Given the description of an element on the screen output the (x, y) to click on. 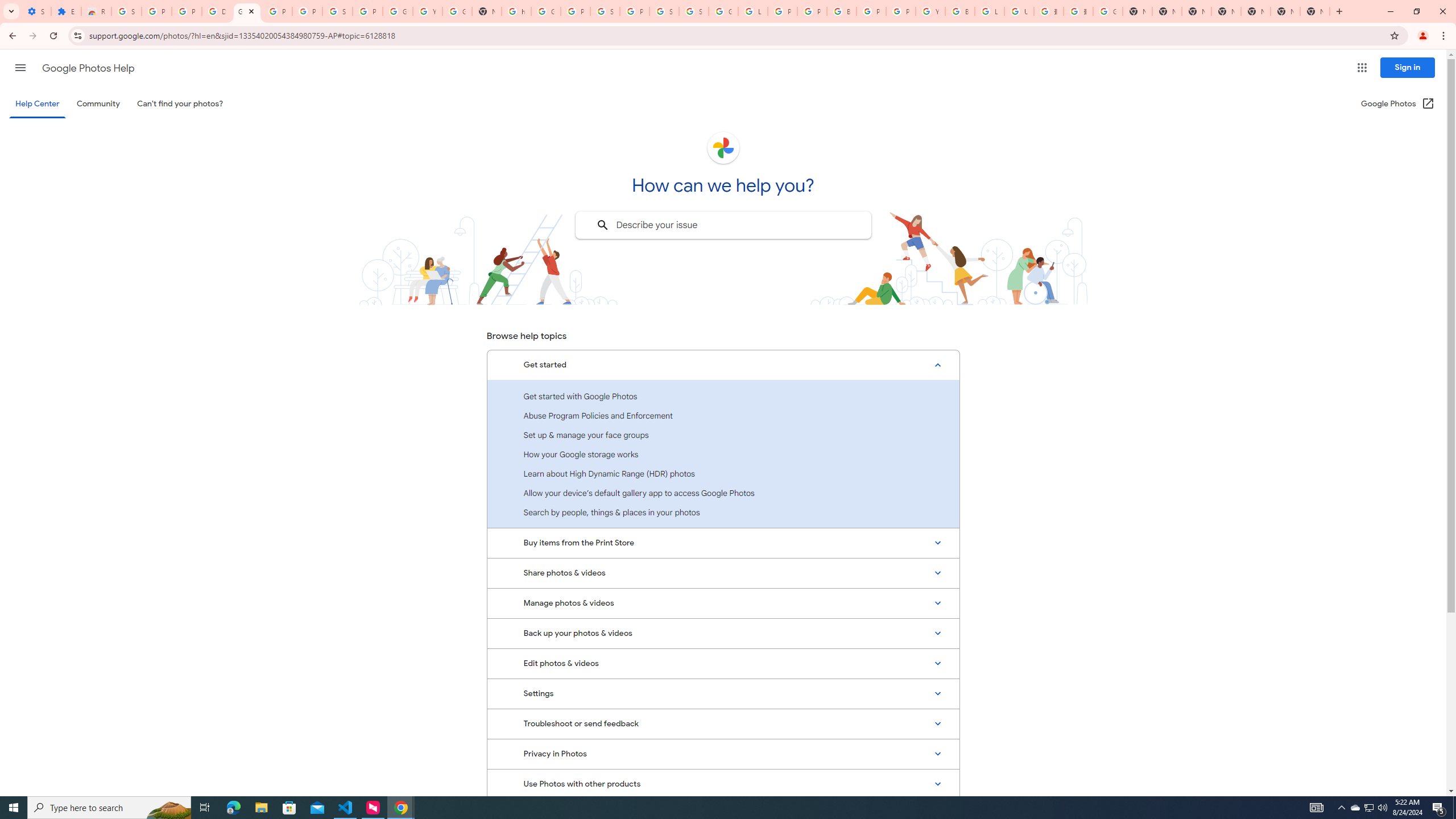
Privacy in Photos (722, 754)
Extensions (65, 11)
Search by people, things & places in your photos (722, 512)
Google Photos (Open in a new window) (1397, 103)
Sign in - Google Accounts (126, 11)
Privacy Help Center - Policies Help (782, 11)
Set up & manage your face groups (722, 434)
Community (97, 103)
New Tab (1226, 11)
